Given the description of an element on the screen output the (x, y) to click on. 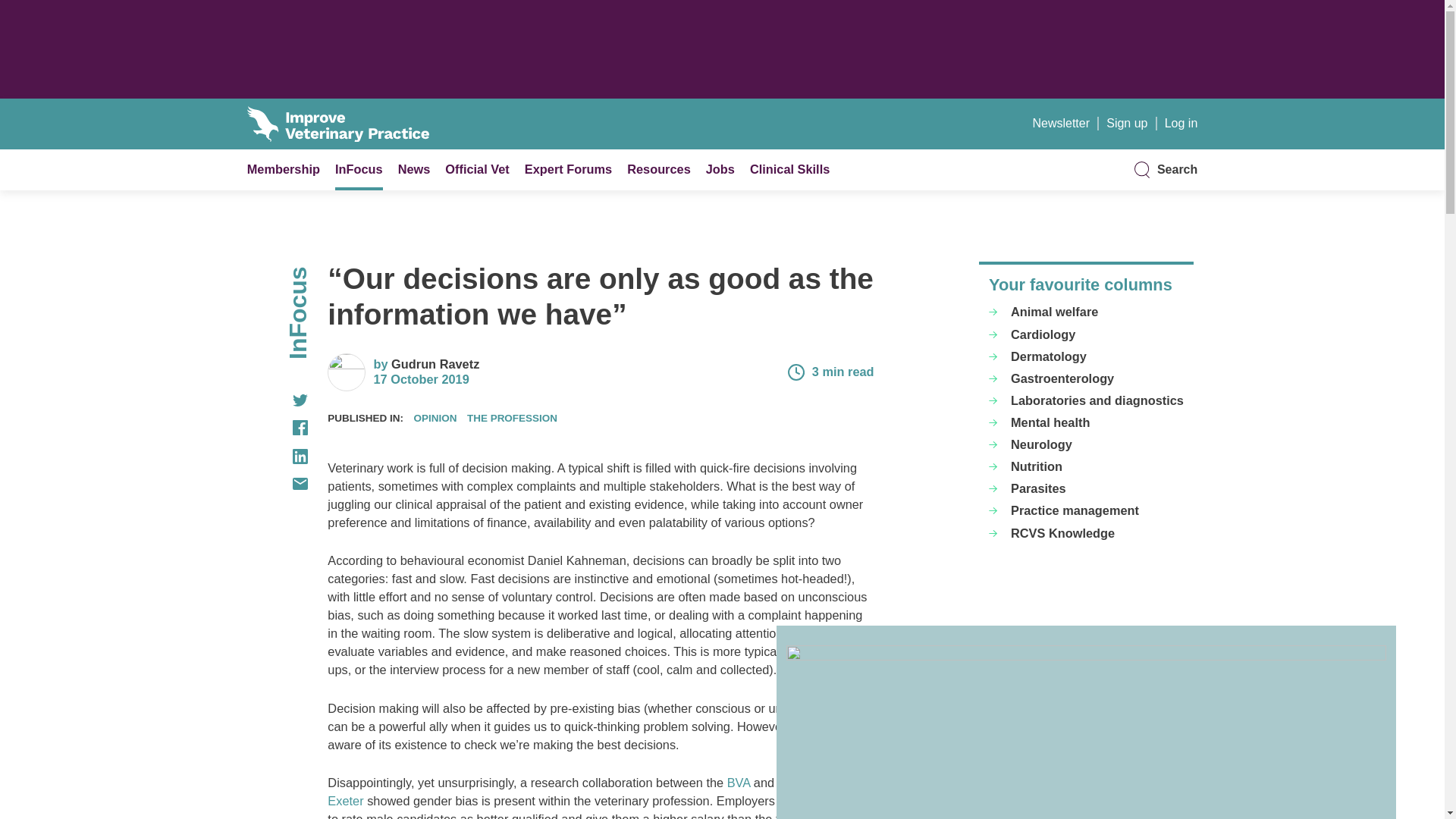
THE PROFESSION (512, 418)
Gudrun Ravetz (435, 364)
The profession (512, 418)
Share on Twitter (277, 399)
Clinical Skills (789, 169)
OPINION (435, 418)
Expert Forums (567, 169)
Official Vet (476, 169)
Resources (658, 169)
Newsletter (1060, 123)
